Given the description of an element on the screen output the (x, y) to click on. 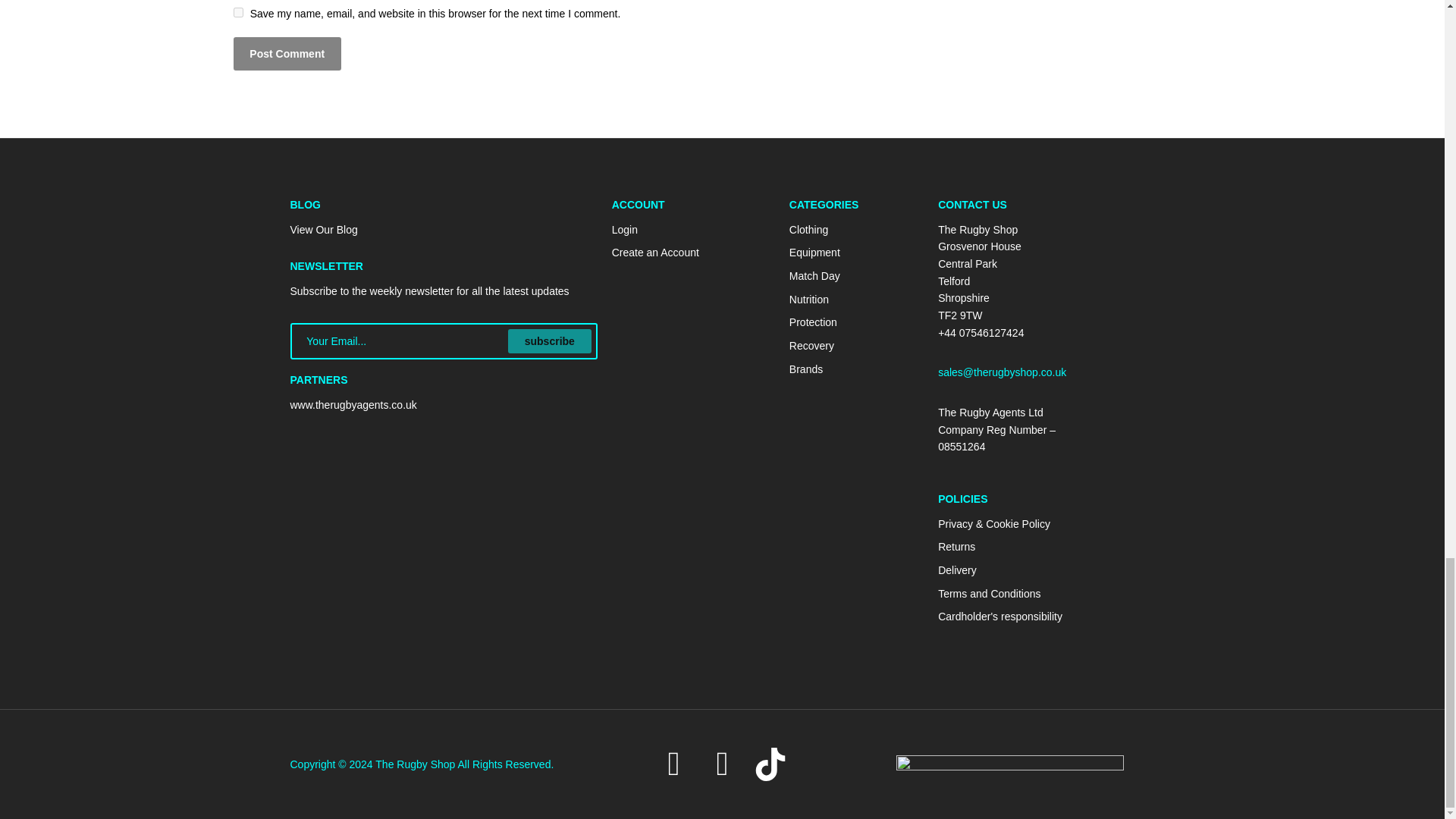
Post Comment (286, 53)
yes (237, 12)
